Given the description of an element on the screen output the (x, y) to click on. 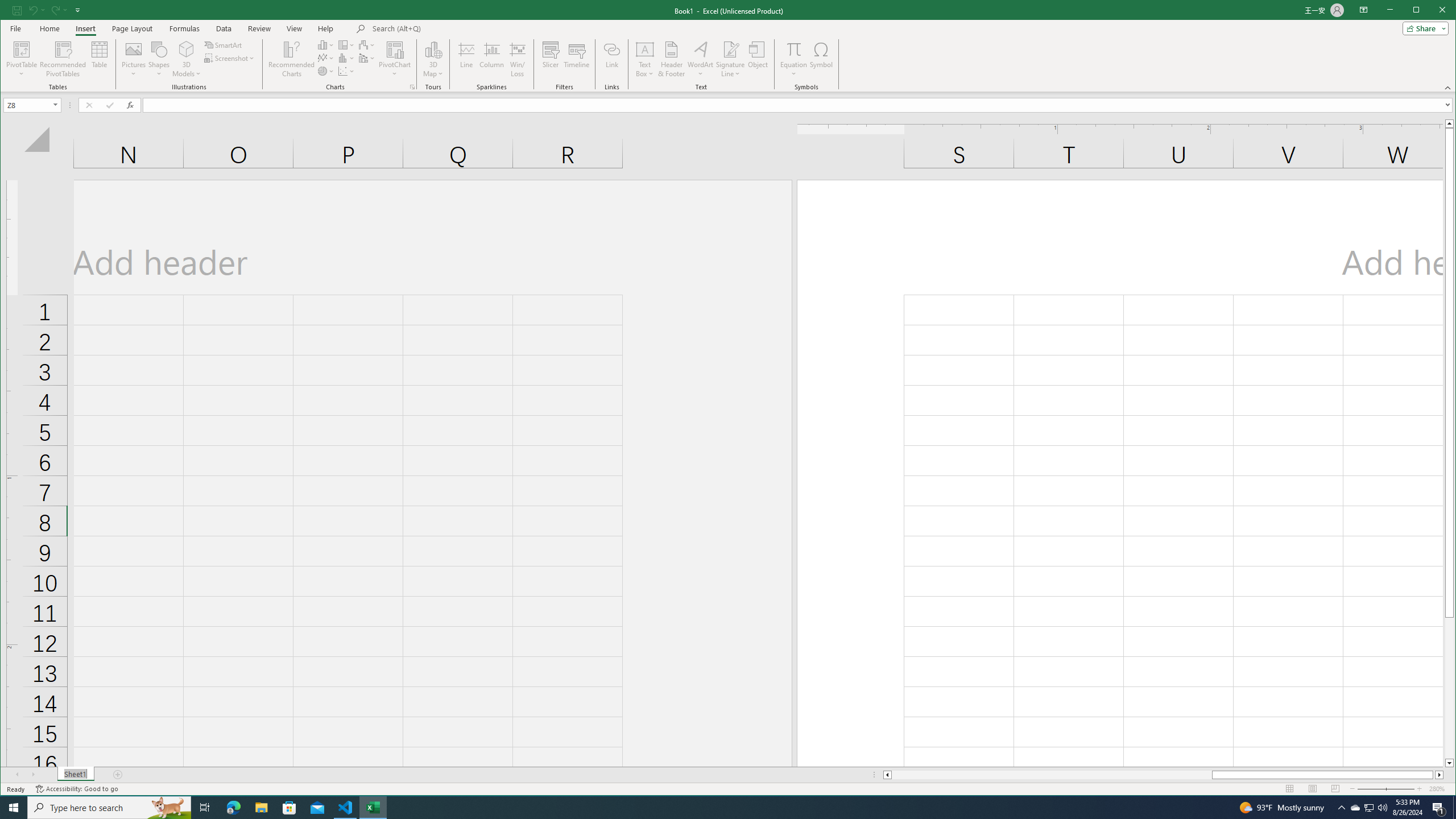
Sheet Tab (75, 774)
Insert Waterfall, Funnel, Stock, Surface, or Radar Chart (366, 44)
Page left (1051, 774)
Table (99, 59)
Insert Line or Area Chart (325, 57)
Object... (757, 59)
Visual Studio Code - 1 running window (345, 807)
Q2790: 100% (1382, 807)
